Given the description of an element on the screen output the (x, y) to click on. 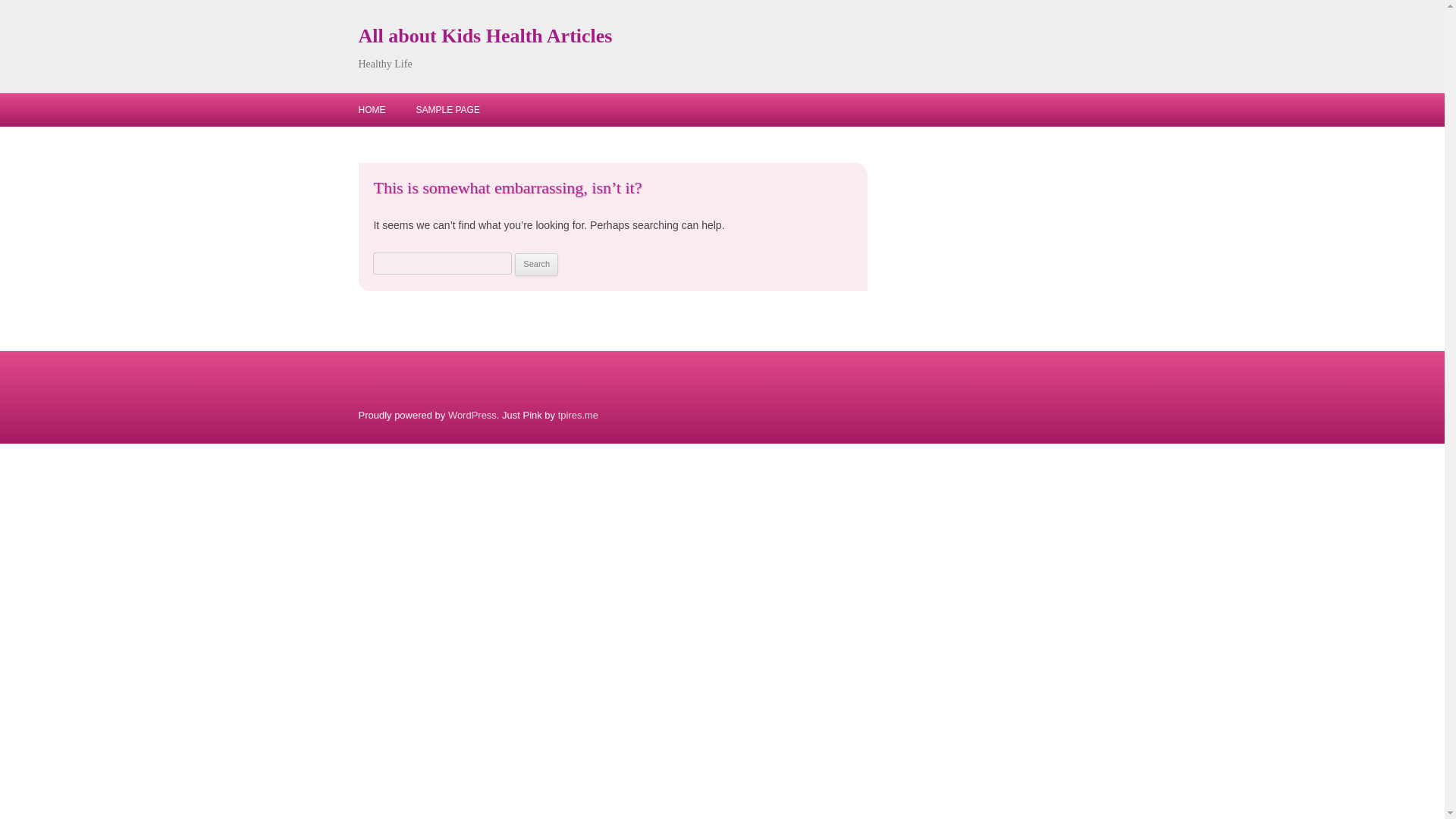
SAMPLE PAGE (446, 109)
Search (536, 264)
Semantic Personal Publishing Platform (472, 414)
All about Kids Health Articles (484, 36)
Search (536, 264)
WordPress (472, 414)
All about Kids Health Articles (484, 36)
tpires.me (577, 414)
